Given the description of an element on the screen output the (x, y) to click on. 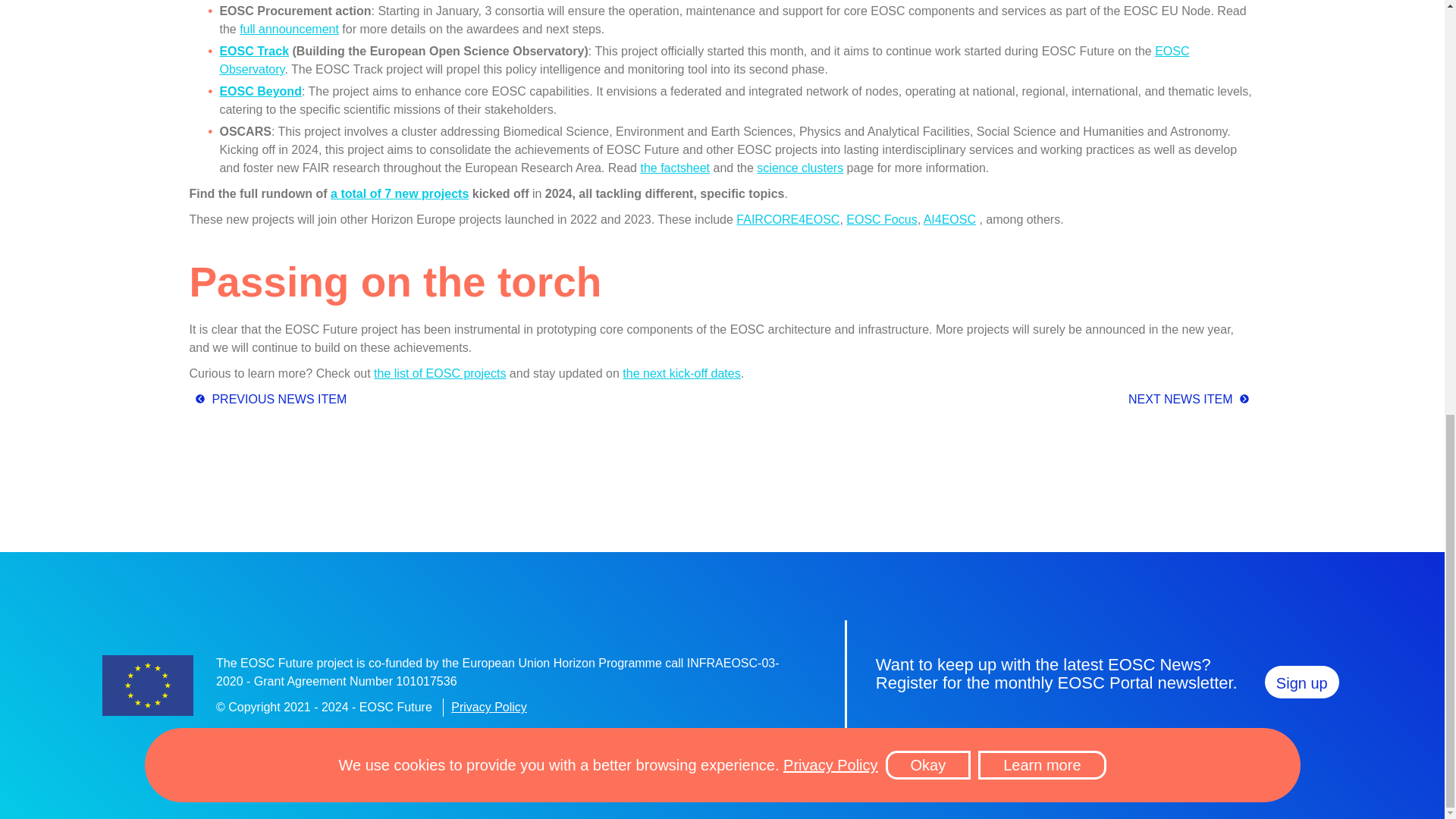
EOSC Track (253, 51)
Sign up to the newsletter (1302, 681)
the next kick-off dates (681, 373)
the list of EOSC projects (439, 373)
a total of 7 new projects (399, 193)
AI4EOSC (949, 219)
EOSC Observatory (704, 60)
the factsheet (675, 167)
EOSC Focus (881, 219)
FAIRCORE4EOSC (788, 219)
EOSC Beyond (260, 91)
science clusters (800, 167)
full announcement (289, 29)
